Given the description of an element on the screen output the (x, y) to click on. 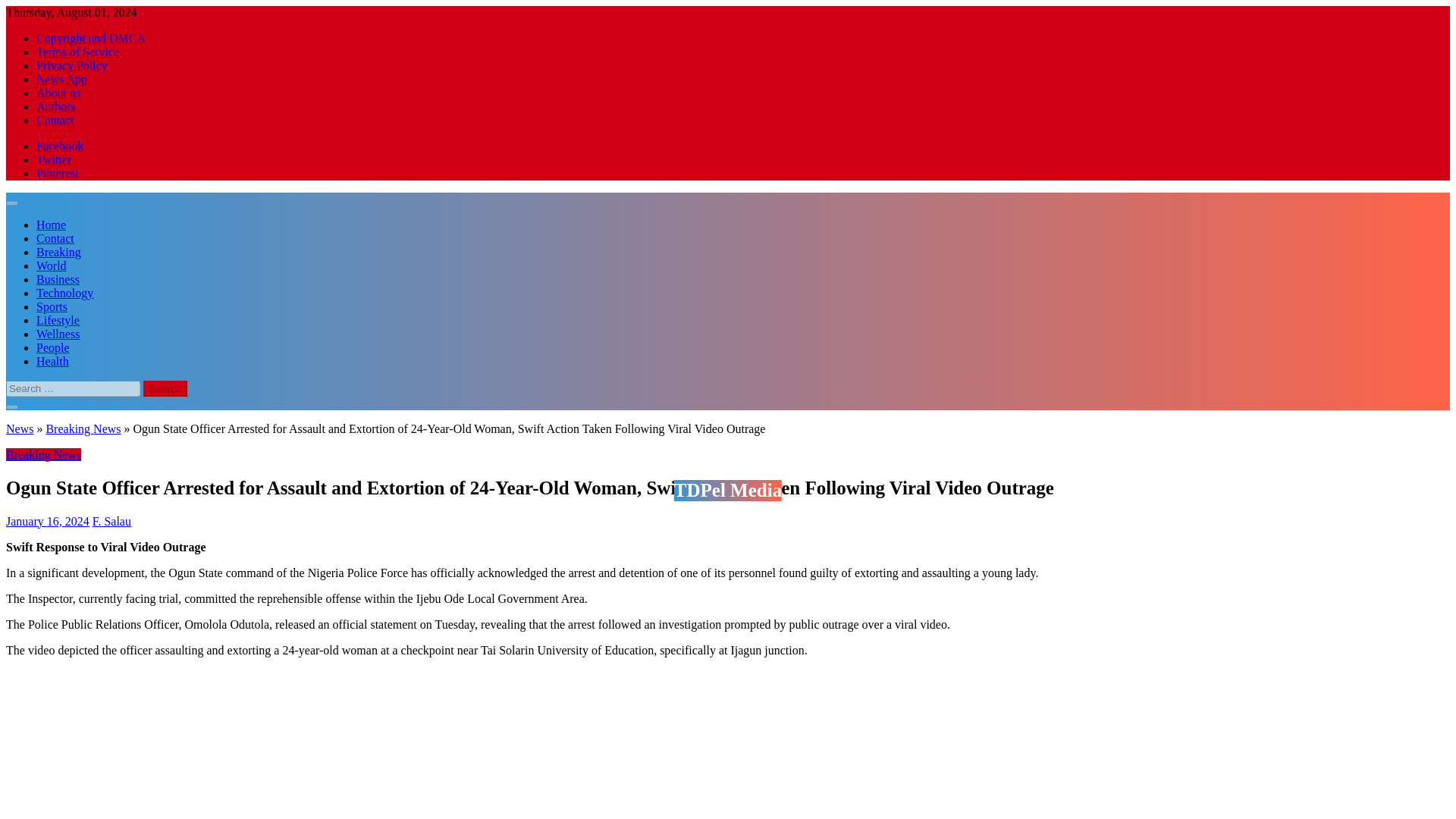
Search (164, 388)
Breaking News (43, 454)
Terms of Service (77, 51)
Home (50, 224)
Breaking (58, 251)
Contact (55, 119)
Technology (64, 292)
Contact (55, 237)
People (52, 347)
News (19, 428)
January 16, 2024 (46, 520)
Lifestyle (58, 319)
Health (52, 360)
About us (58, 92)
Sports (51, 306)
